Given the description of an element on the screen output the (x, y) to click on. 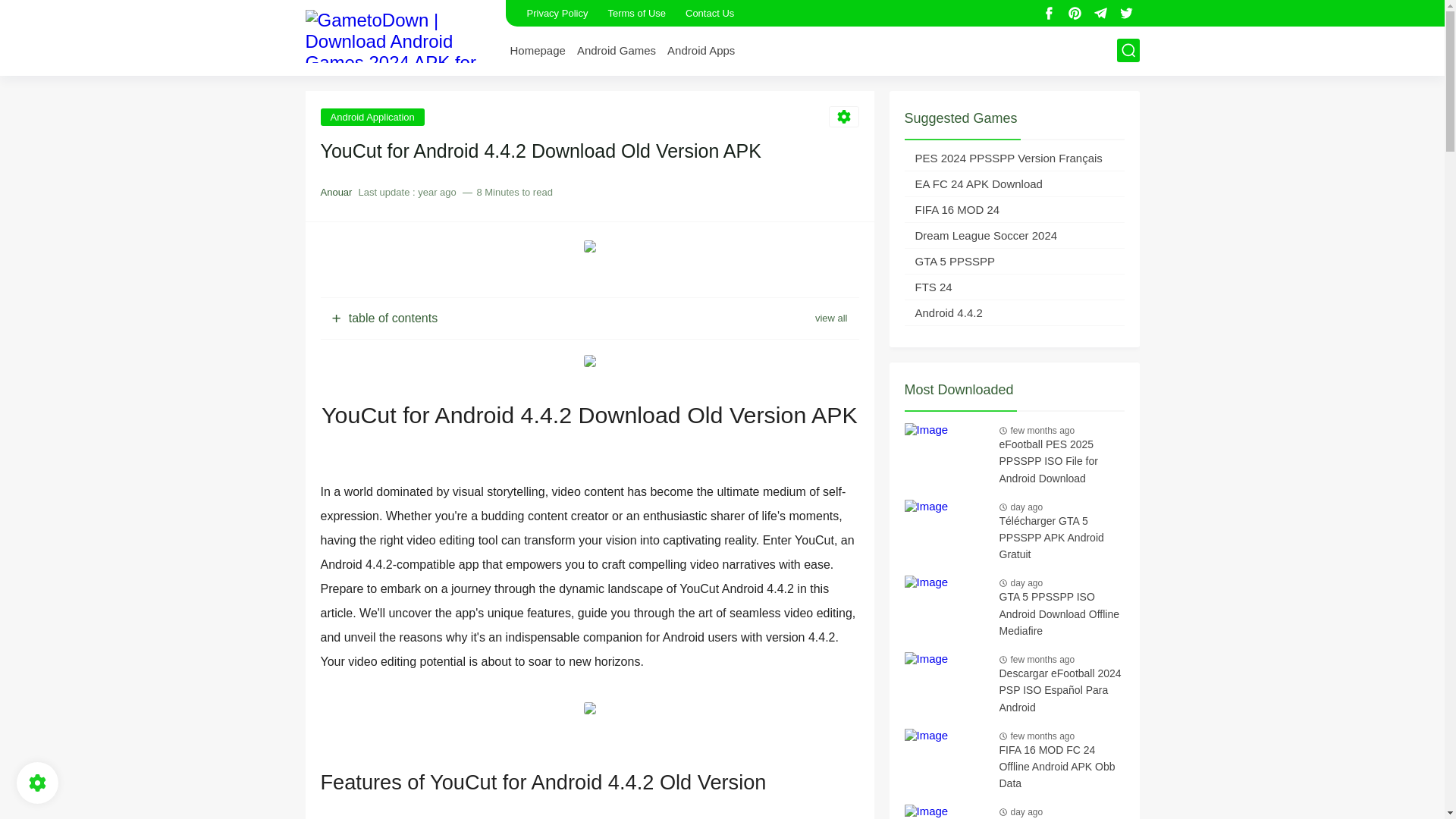
Terms of Use (636, 12)
Contact Us (709, 12)
Android Apps (700, 50)
Android Games (616, 50)
Android Application (371, 116)
Homepage (536, 50)
Android Games (616, 50)
Privacy Policy (556, 12)
Android Apps (700, 50)
Android Application (371, 116)
Homepage (536, 50)
